Given the description of an element on the screen output the (x, y) to click on. 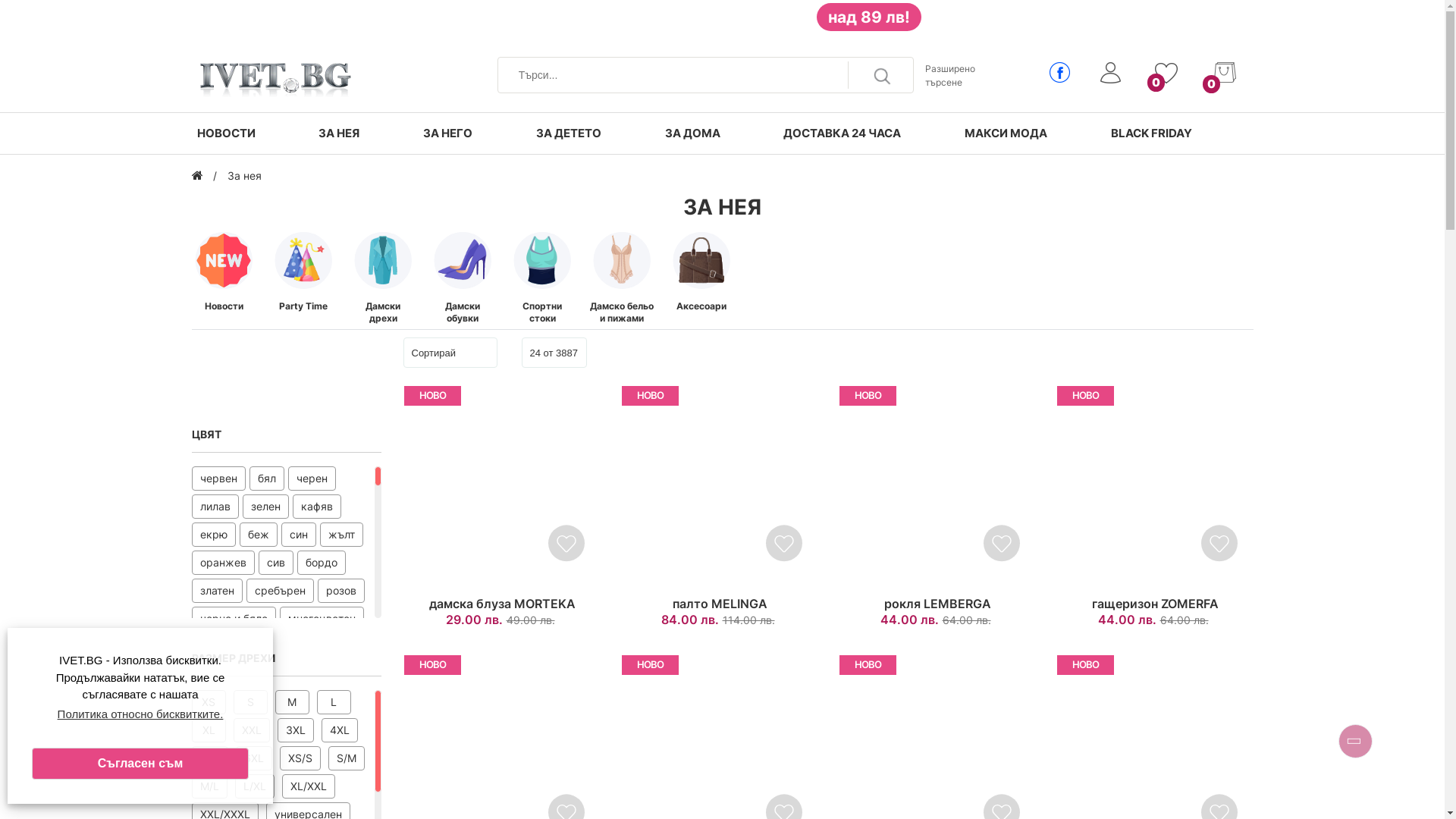
M/L Element type: text (208, 786)
M Element type: text (291, 702)
XL Element type: text (208, 730)
L Element type: text (333, 702)
L/XL Element type: text (254, 786)
3XL Element type: text (295, 730)
BLACK FRIDAY Element type: text (1151, 132)
XS/S Element type: text (299, 758)
XXL Element type: text (251, 730)
0 Element type: text (1167, 40)
XS Element type: text (208, 702)
0 Element type: text (1224, 37)
XL/XXL Element type: text (308, 786)
4XL Element type: text (339, 730)
S Element type: text (250, 702)
S/M Element type: text (345, 758)
5XL Element type: text (209, 758)
6XL Element type: text (253, 758)
Party Time Element type: text (303, 305)
